Given the description of an element on the screen output the (x, y) to click on. 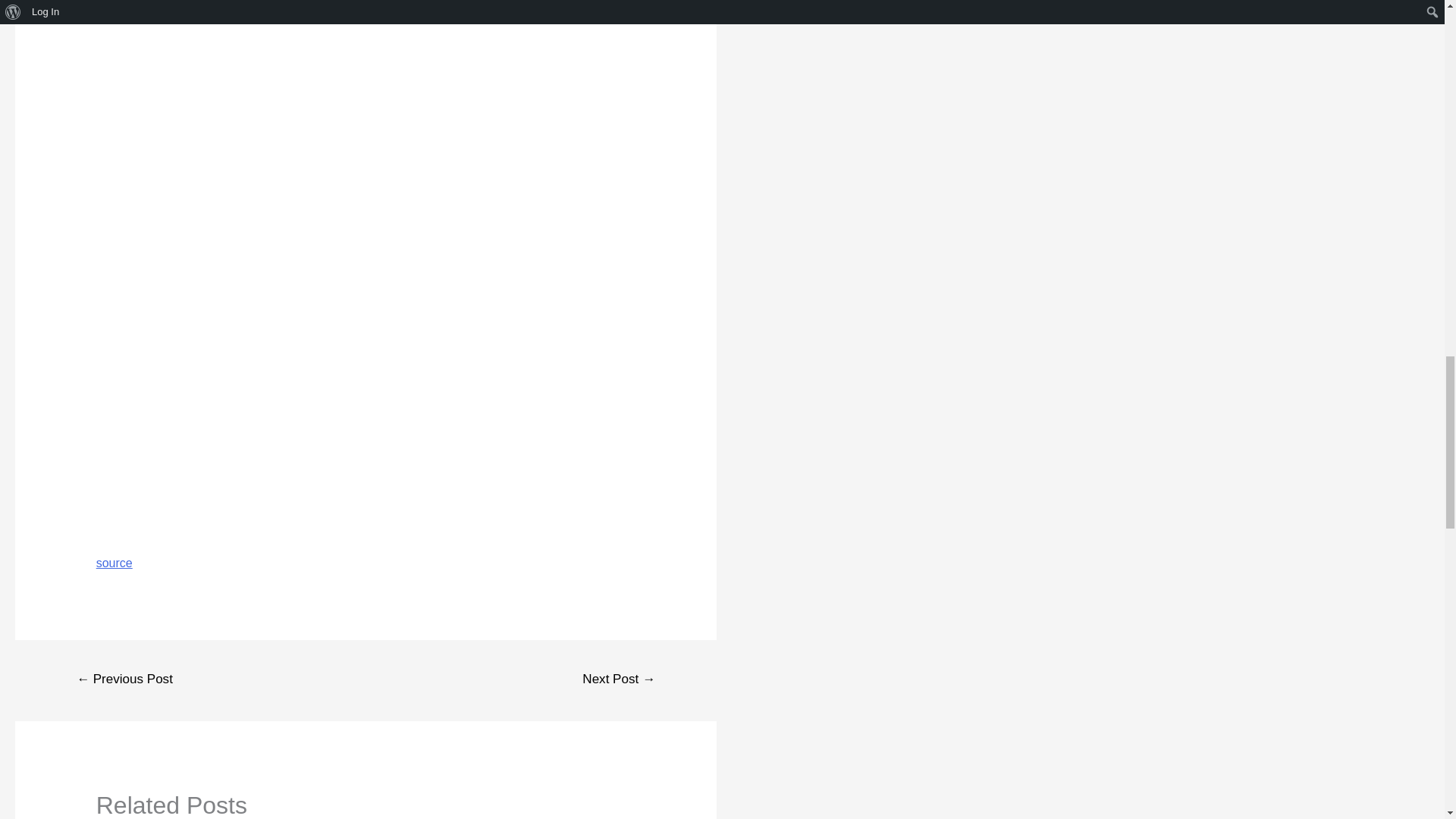
source (114, 562)
